Given the description of an element on the screen output the (x, y) to click on. 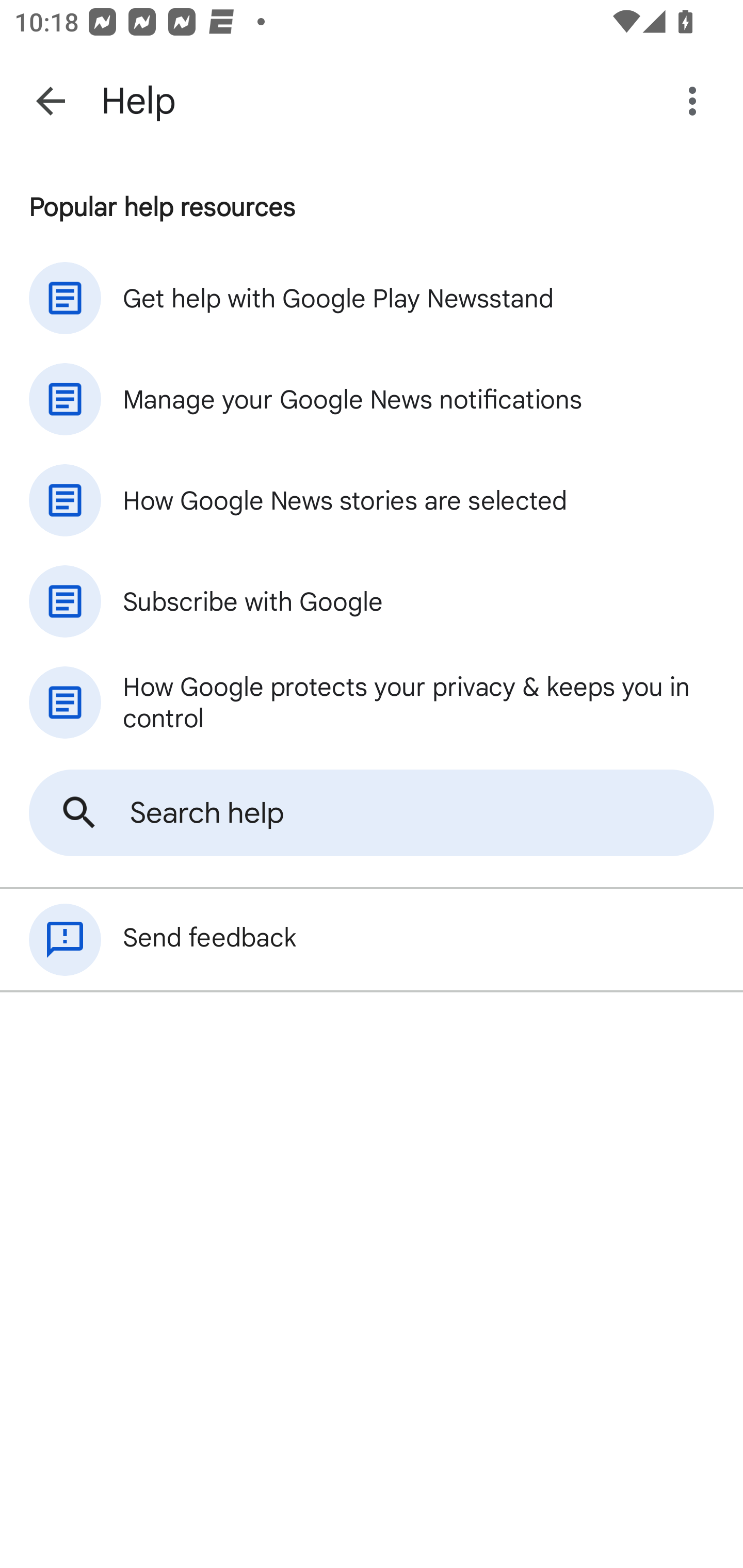
Navigate up (50, 101)
More options (696, 101)
Get help with Google Play Newsstand (371, 297)
Manage your Google News notifications (371, 399)
How Google News stories are selected (371, 500)
Subscribe with Google (371, 601)
Search help (371, 812)
Send feedback (371, 939)
